Given the description of an element on the screen output the (x, y) to click on. 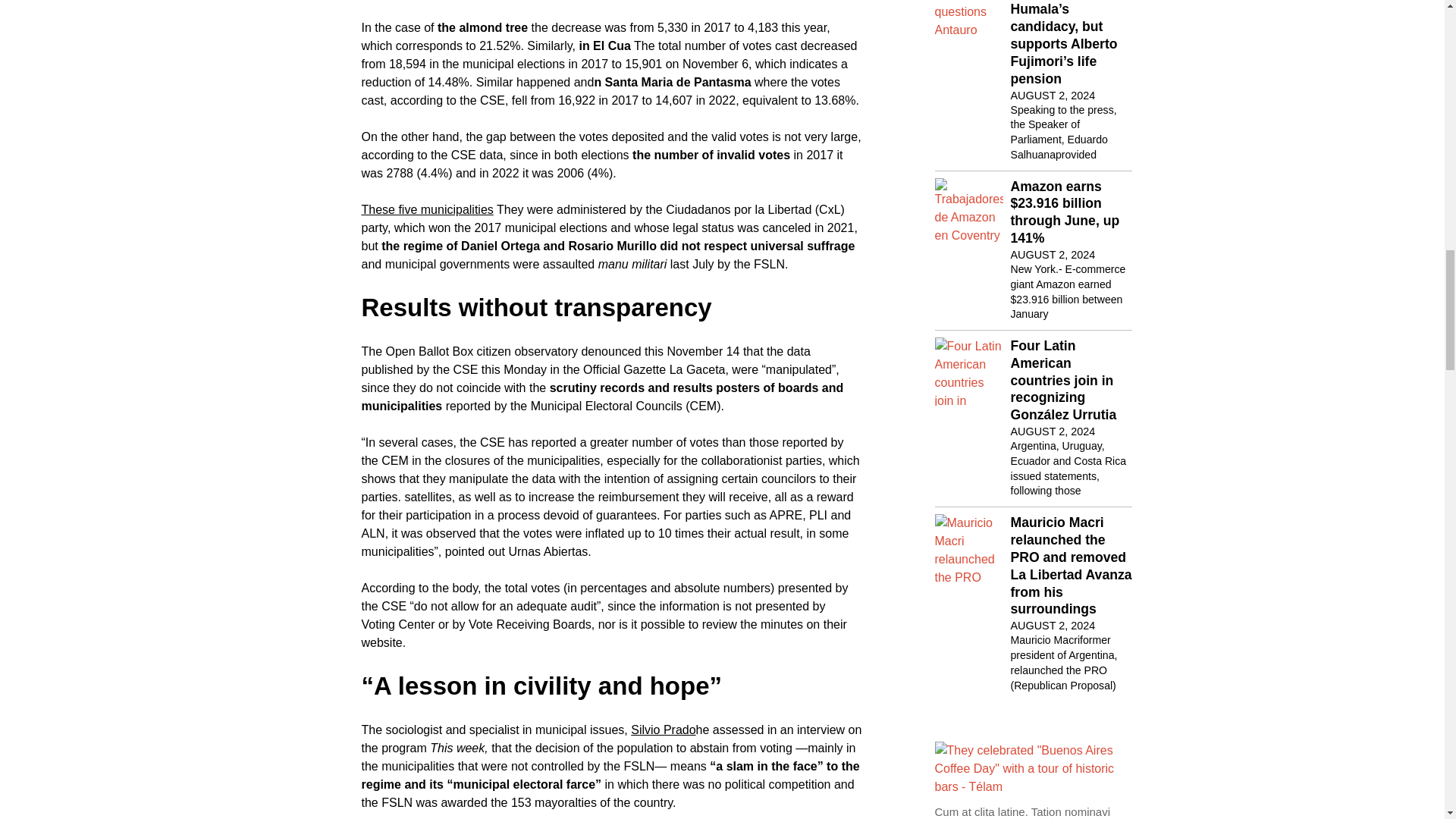
02 Aug, 2024 18:19:43 (1052, 431)
Silvio Prado (662, 729)
02 Aug, 2024 18:57:40 (1052, 625)
02 Aug, 2024 18:06:45 (1052, 254)
02 Aug, 2024 18:55:47 (1052, 95)
These five municipalities (427, 209)
